Given the description of an element on the screen output the (x, y) to click on. 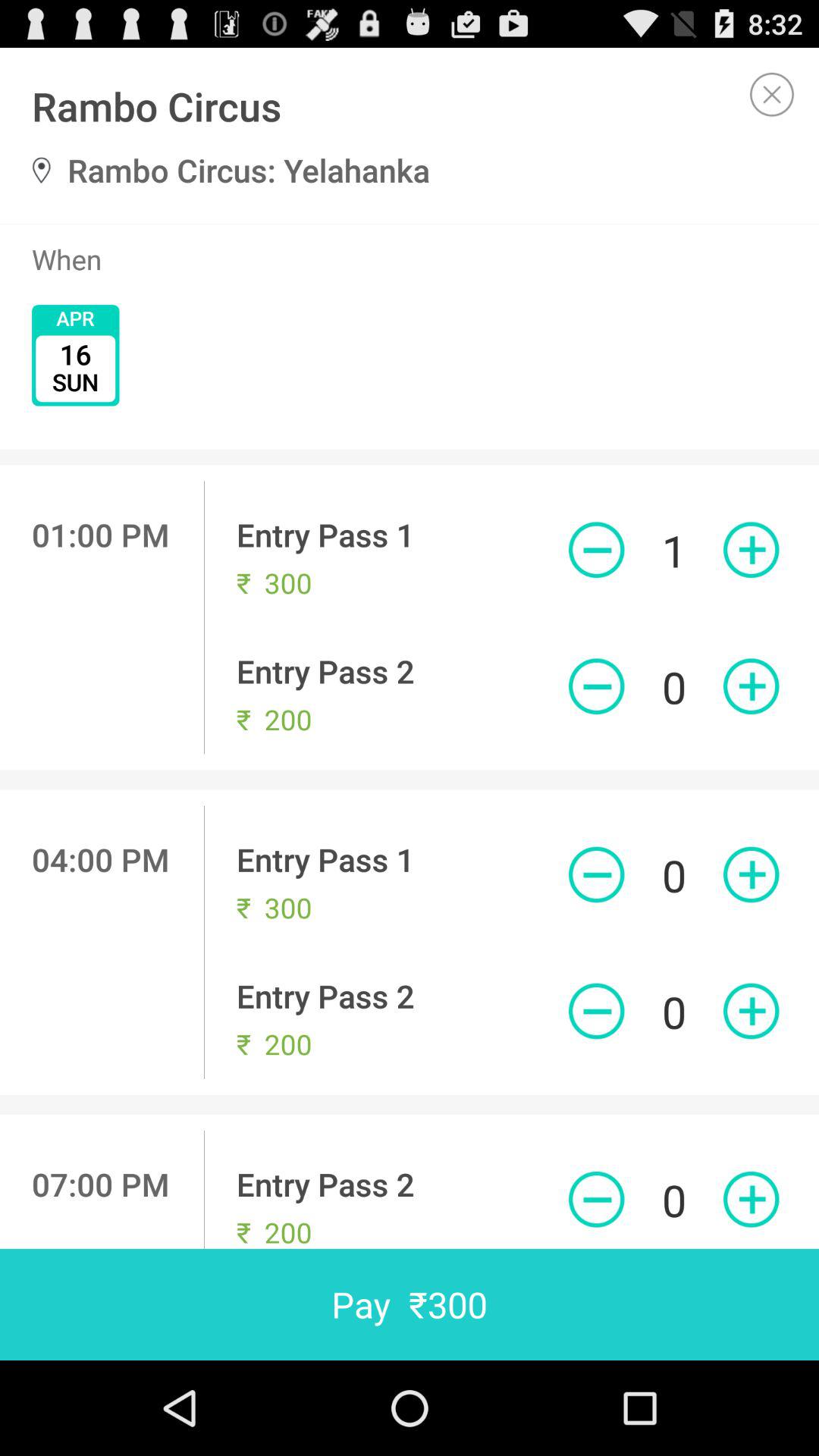
add to cart (751, 686)
